Given the description of an element on the screen output the (x, y) to click on. 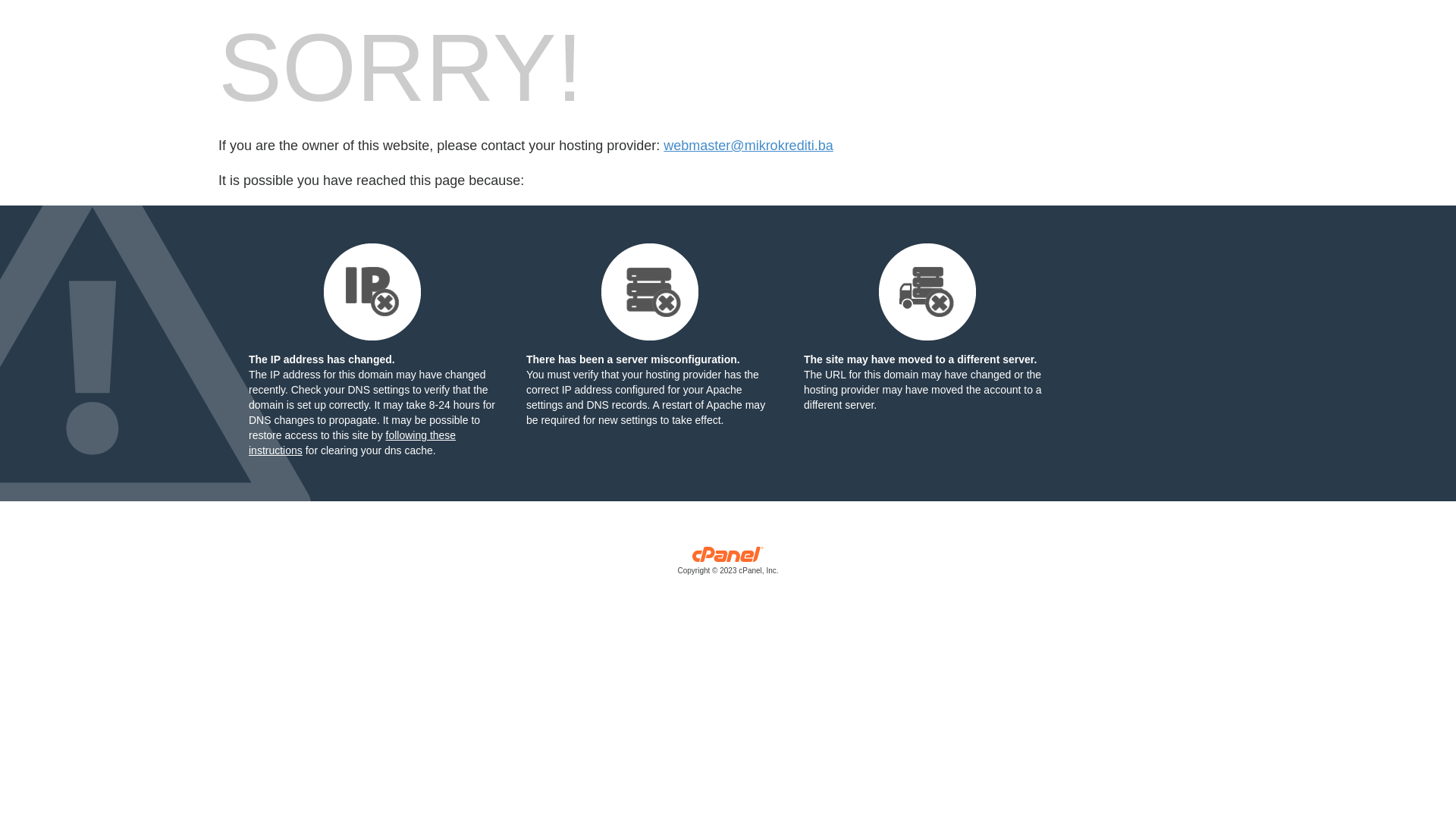
following these instructions Element type: text (351, 442)
webmaster@mikrokrediti.ba Element type: text (747, 145)
